Given the description of an element on the screen output the (x, y) to click on. 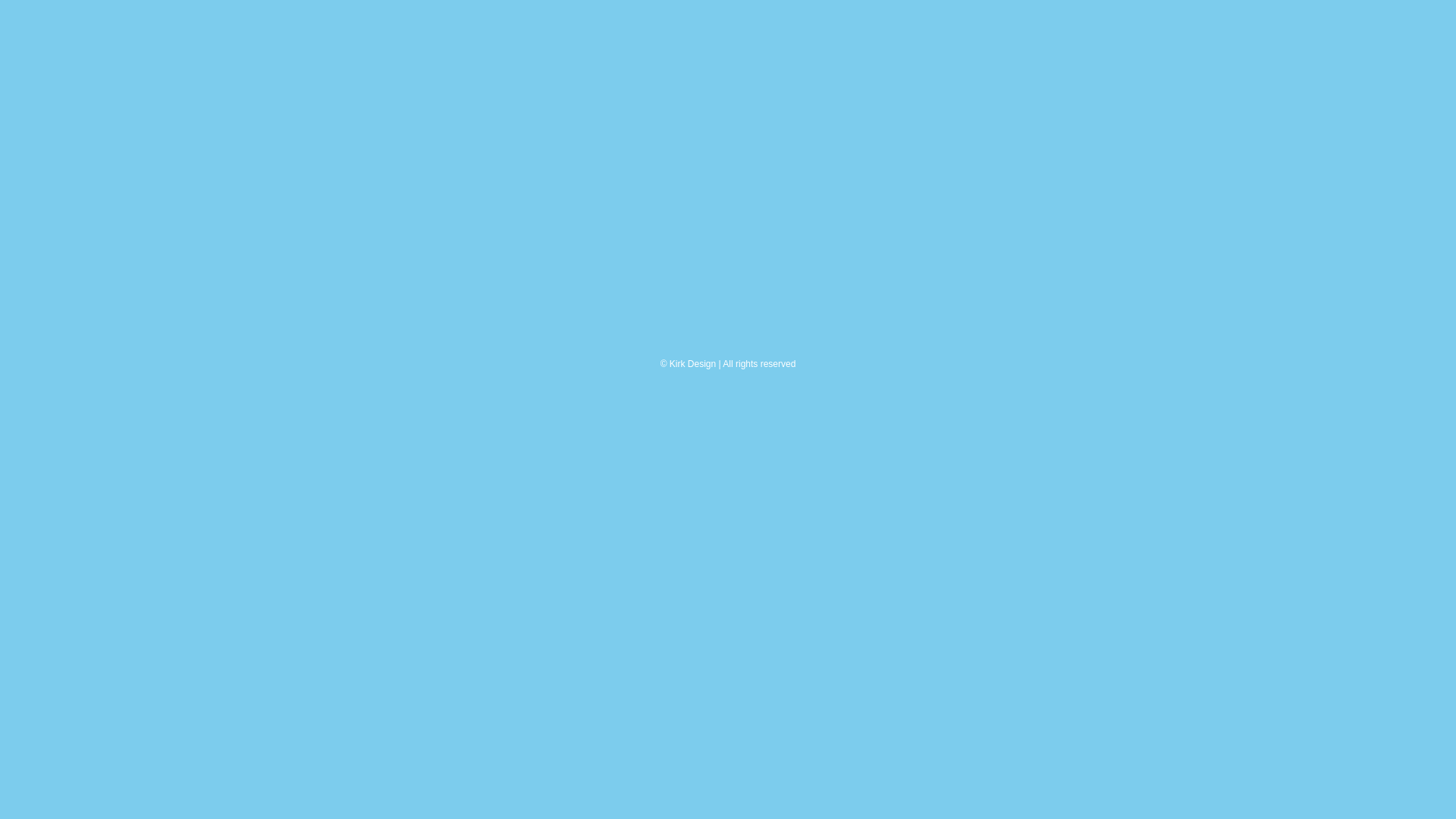
Kirk Design Element type: text (692, 363)
